Given the description of an element on the screen output the (x, y) to click on. 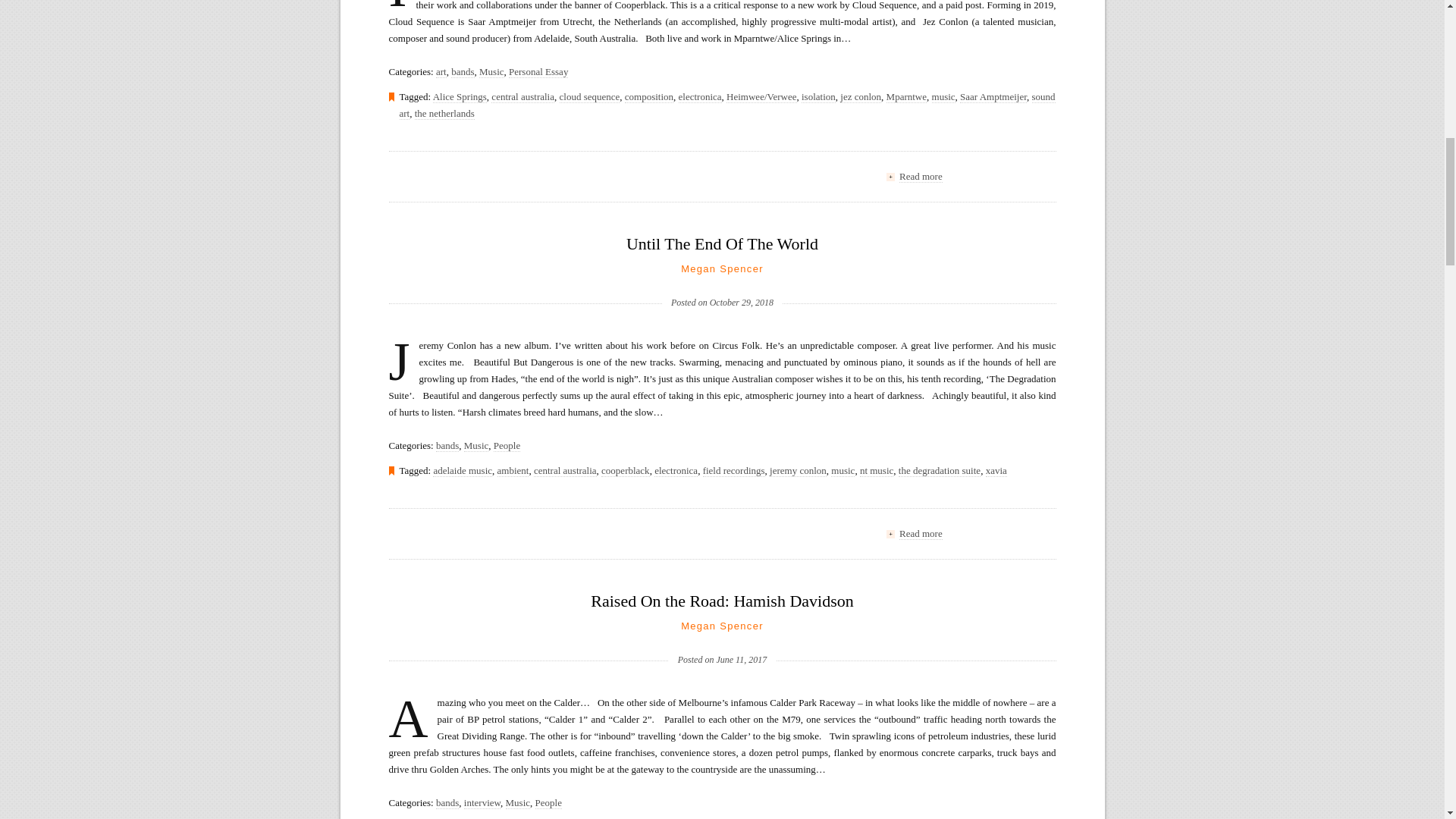
sound art (726, 104)
electronica (700, 96)
isolation (818, 96)
Posts by Megan Spencer (721, 625)
Posts by Megan Spencer (721, 268)
Until The End Of The World (722, 243)
Raised On the Road: Hamish Davidson (722, 634)
music (943, 96)
Mparntwe (906, 96)
Raised On the Road: Hamish Davidson (722, 600)
